Given the description of an element on the screen output the (x, y) to click on. 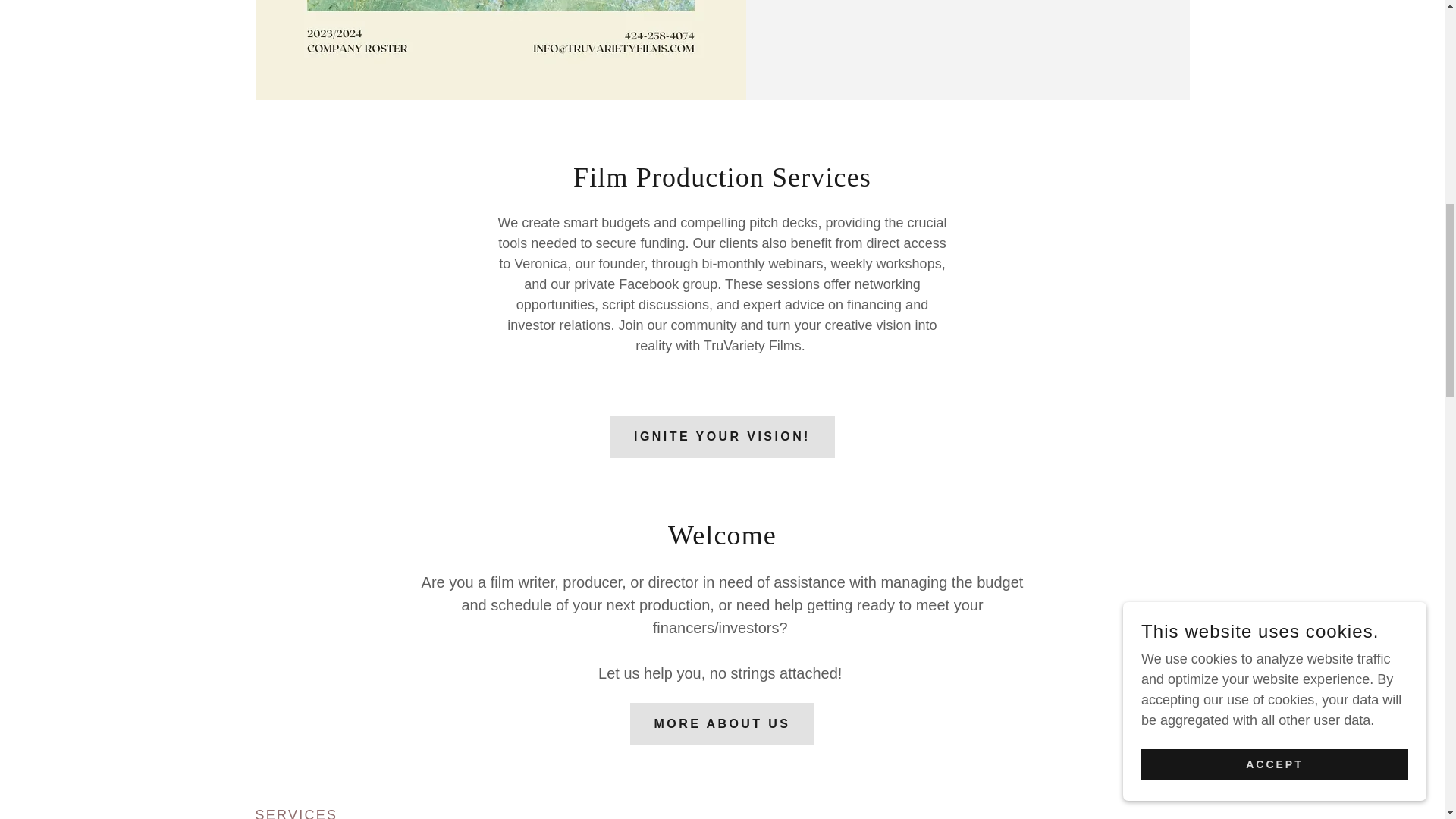
MORE ABOUT US (722, 723)
IGNITE YOUR VISION! (722, 436)
